Given the description of an element on the screen output the (x, y) to click on. 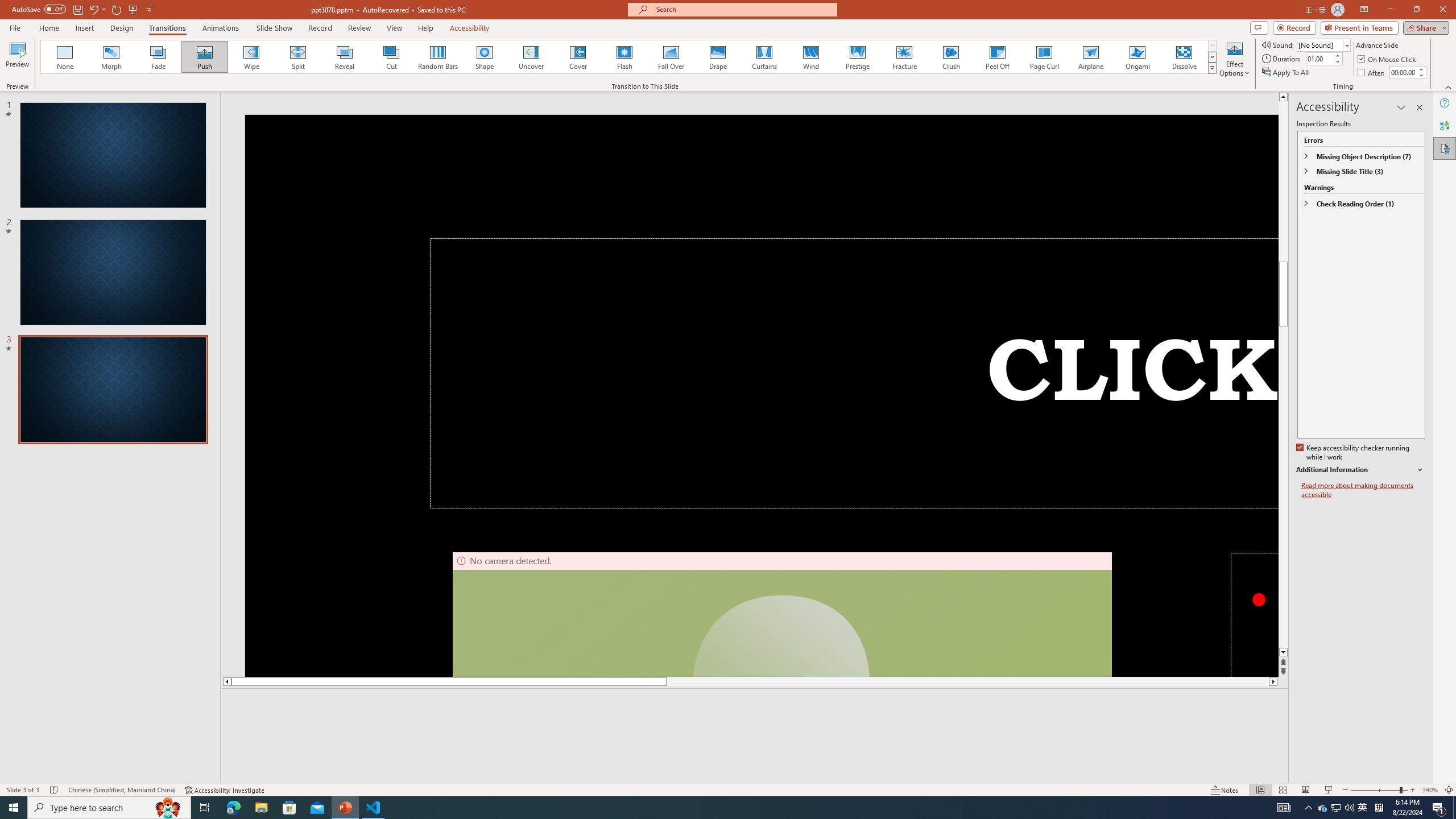
Transition Effects (1212, 67)
After (1372, 72)
After (1403, 72)
Duration (1319, 58)
Morph (111, 56)
Fade (158, 56)
Origami (1136, 56)
